Given the description of an element on the screen output the (x, y) to click on. 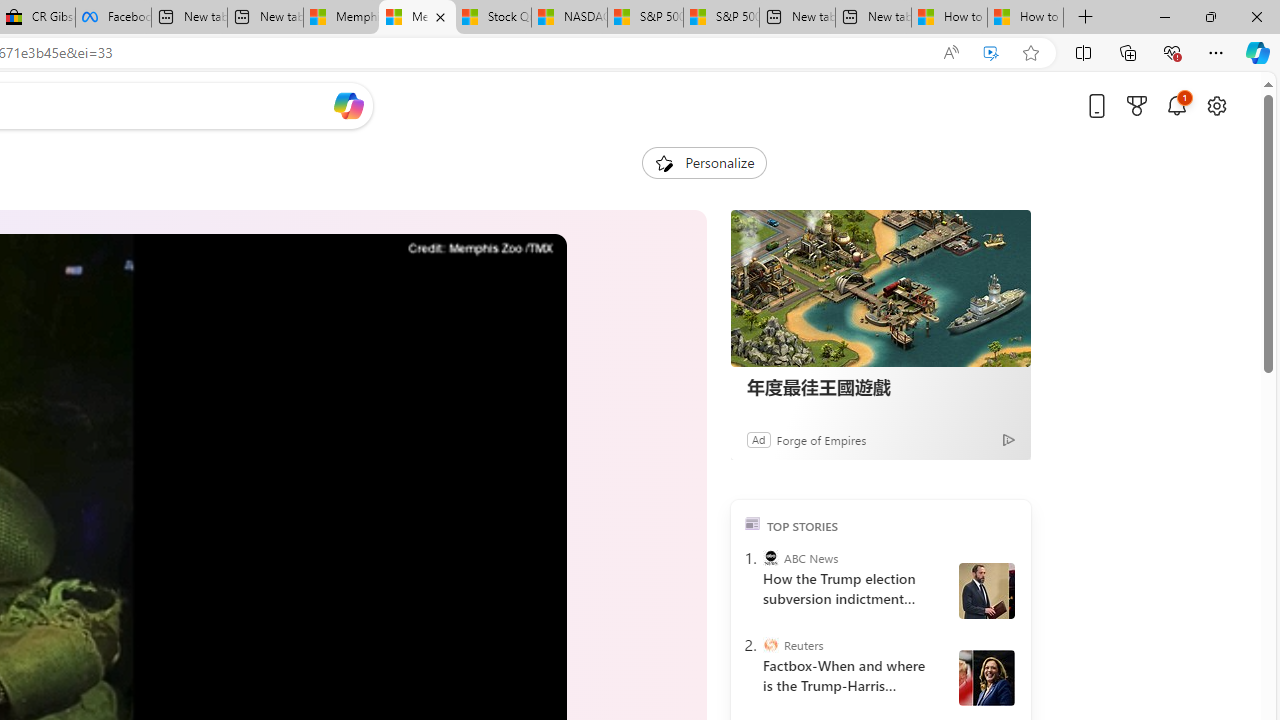
Reuters (770, 645)
Enhance video (991, 53)
Microsoft rewards (1137, 105)
